Given the description of an element on the screen output the (x, y) to click on. 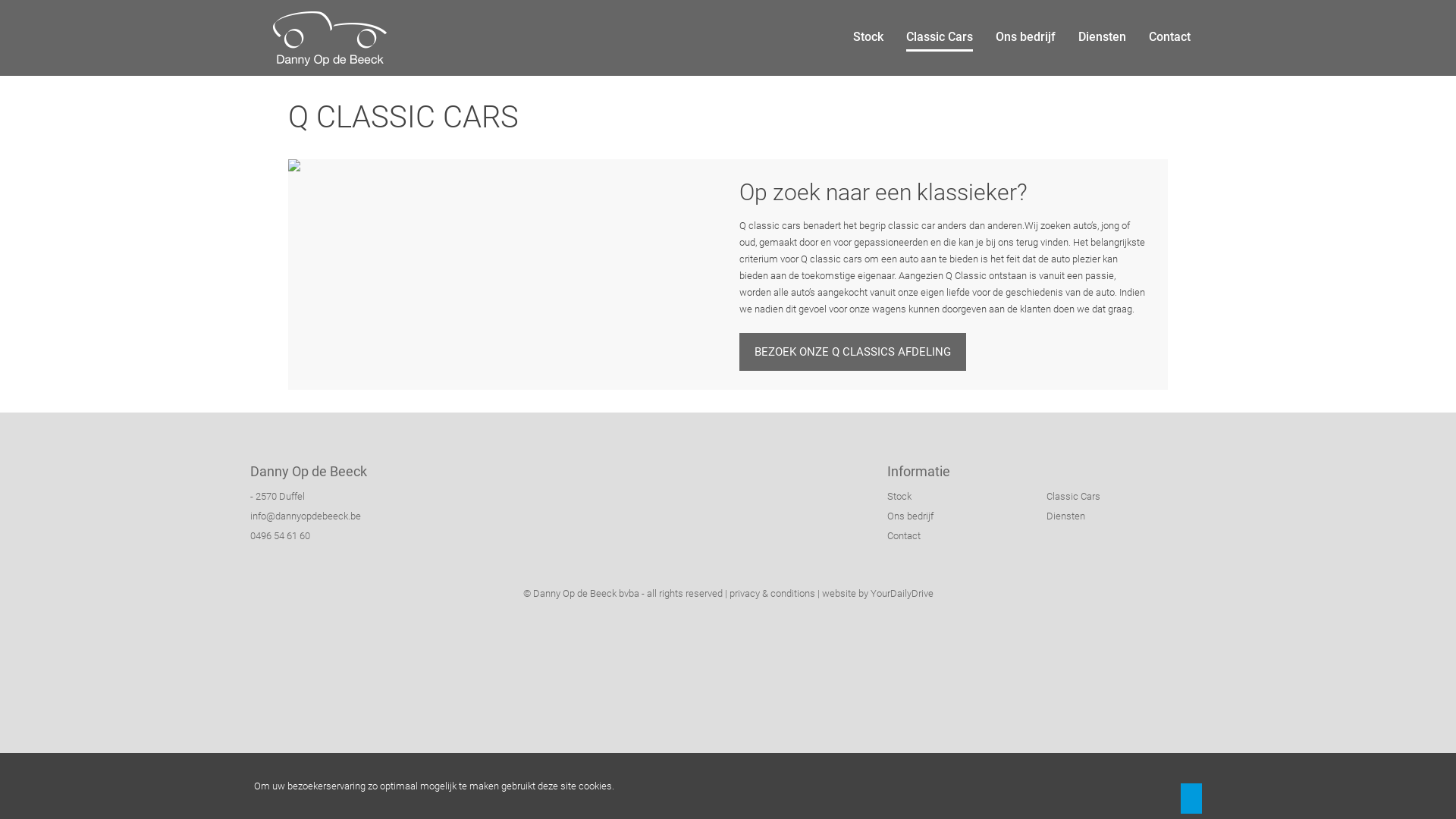
privacy & conditions Element type: text (772, 593)
Contact Element type: text (966, 536)
Diensten Element type: text (1125, 516)
Classic Cars Element type: text (1125, 496)
Ons bedrijf Element type: text (1025, 37)
Contact Element type: text (1169, 37)
Stock Element type: text (966, 496)
Stock Element type: text (868, 37)
BEZOEK ONZE Q CLASSICS AFDELING Element type: text (852, 351)
YourDailyDrive Element type: text (901, 593)
Ons bedrijf Element type: text (966, 516)
Classic Cars Element type: text (939, 38)
info@dannyopdebeeck.be Element type: text (305, 515)
Diensten Element type: text (1102, 37)
